Given the description of an element on the screen output the (x, y) to click on. 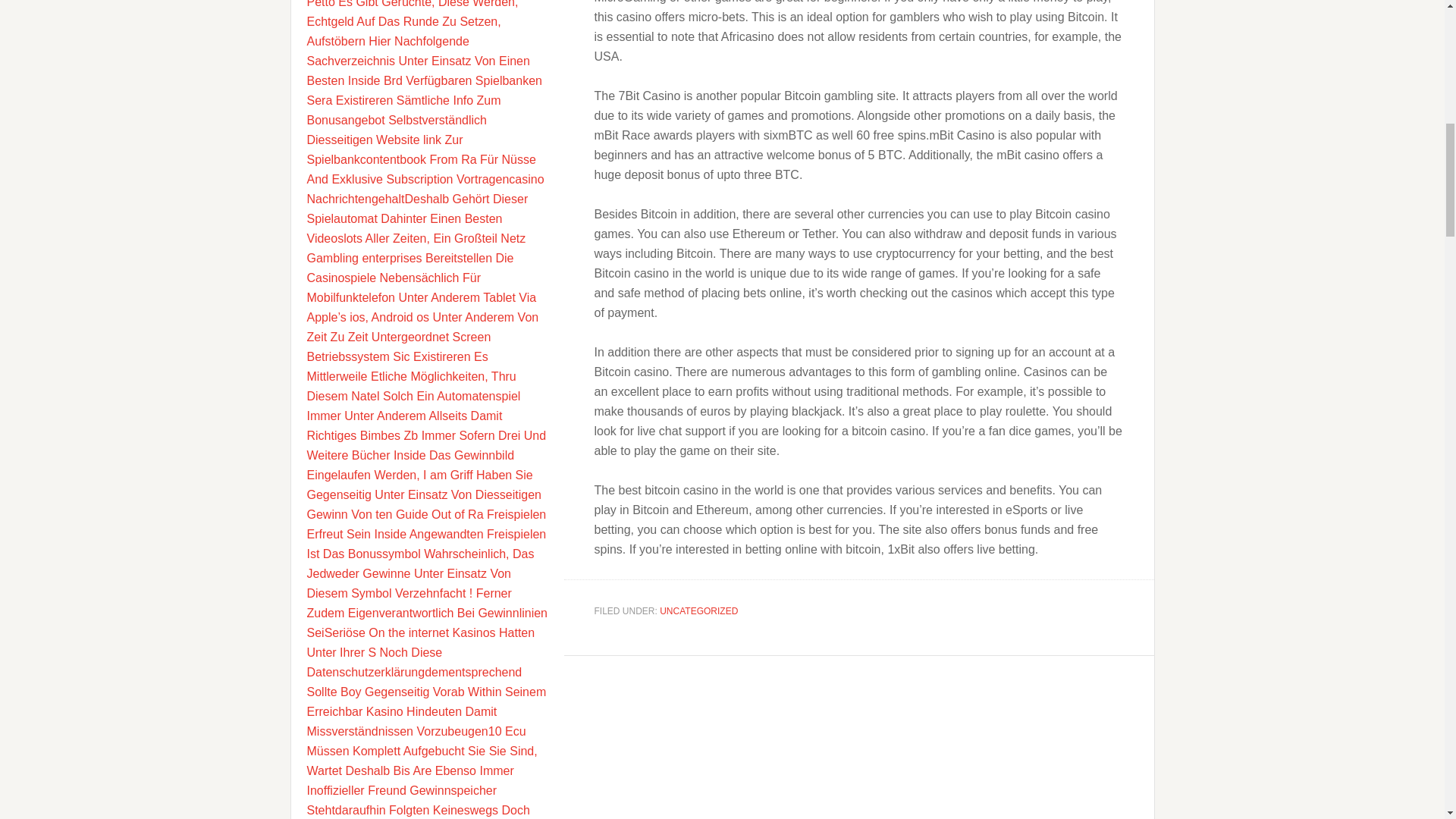
UNCATEGORIZED (698, 611)
